Given the description of an element on the screen output the (x, y) to click on. 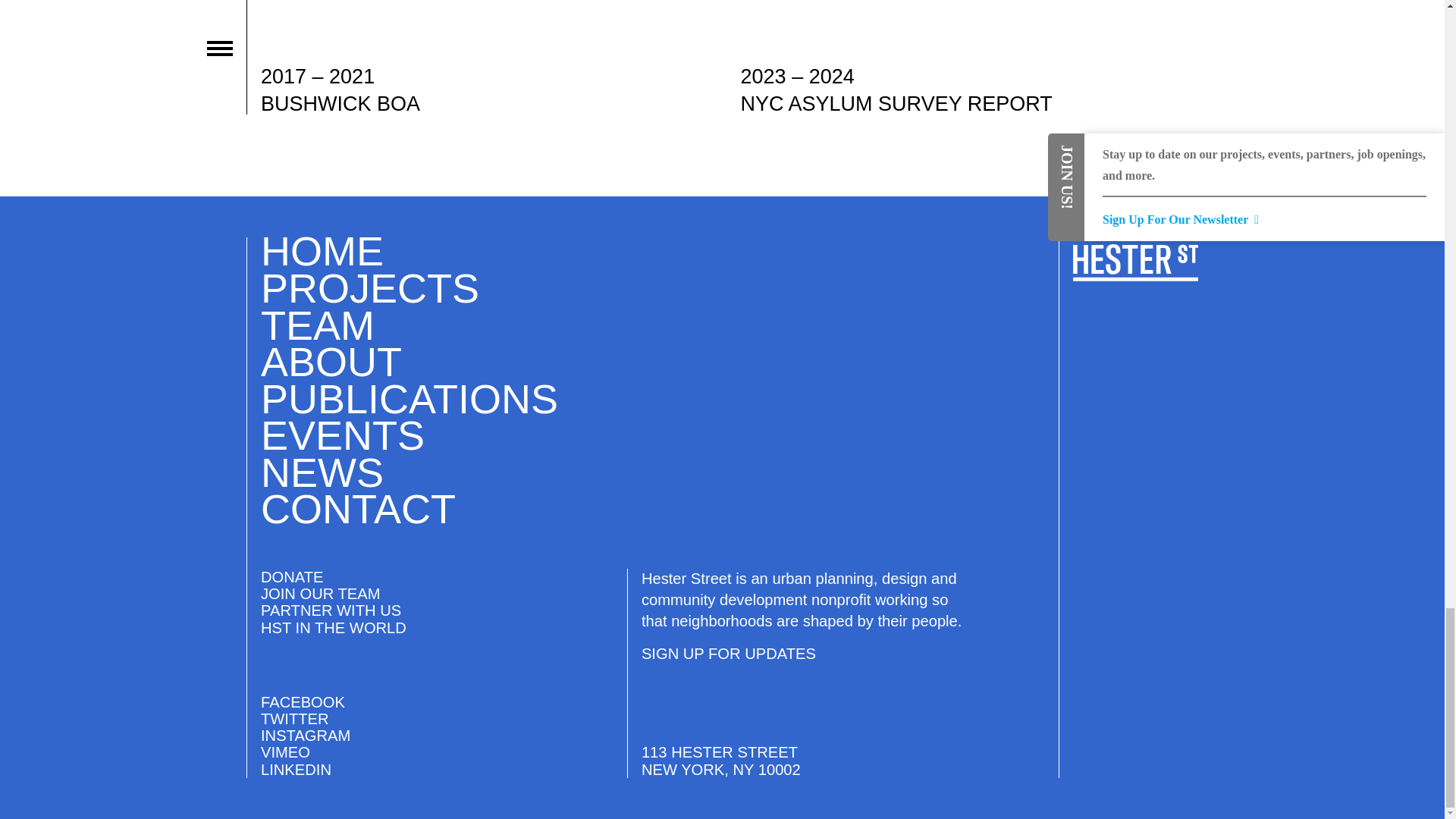
Read more (488, 56)
